Given the description of an element on the screen output the (x, y) to click on. 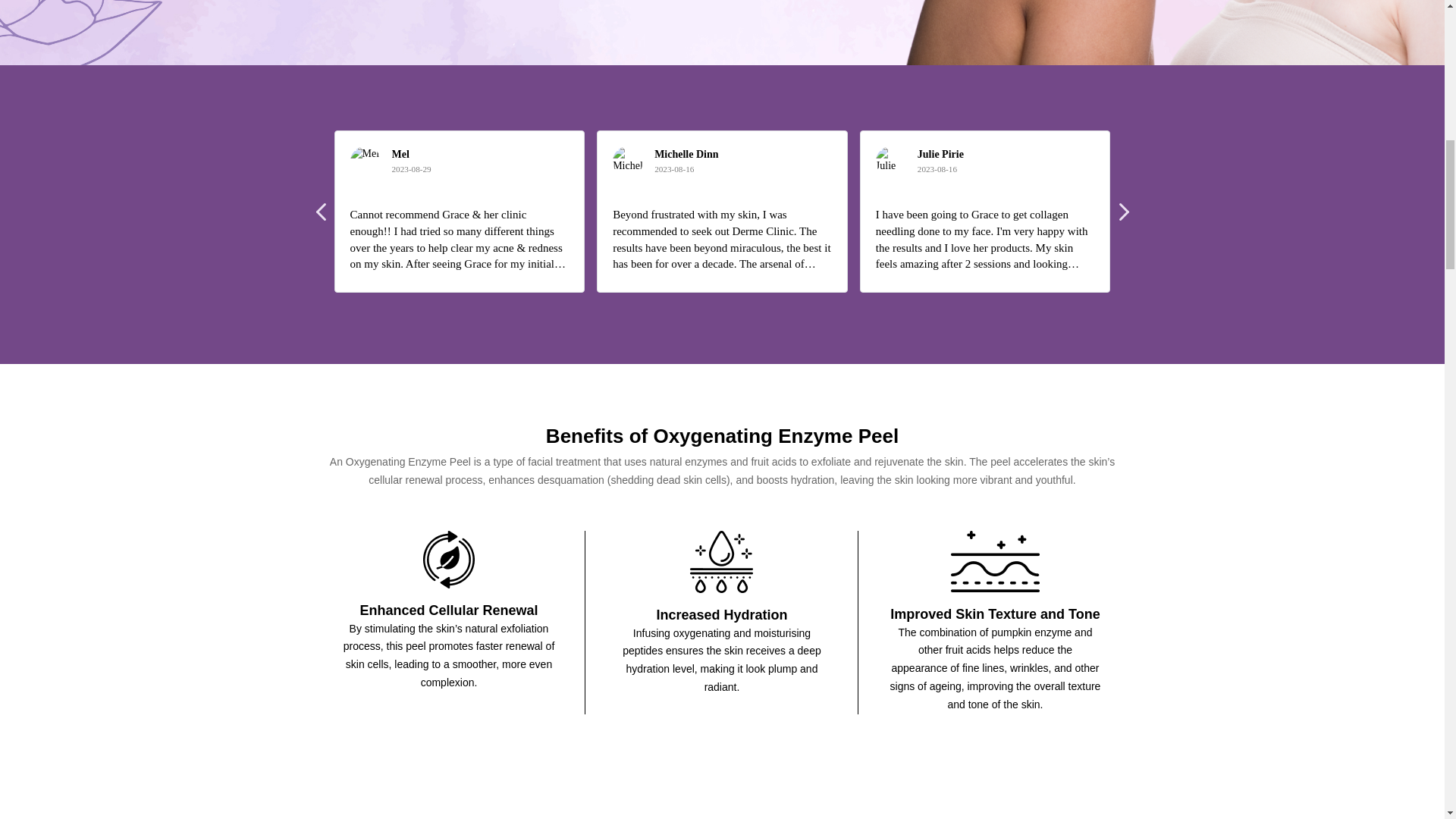
icon (448, 559)
icon (994, 561)
icon (721, 561)
